Given the description of an element on the screen output the (x, y) to click on. 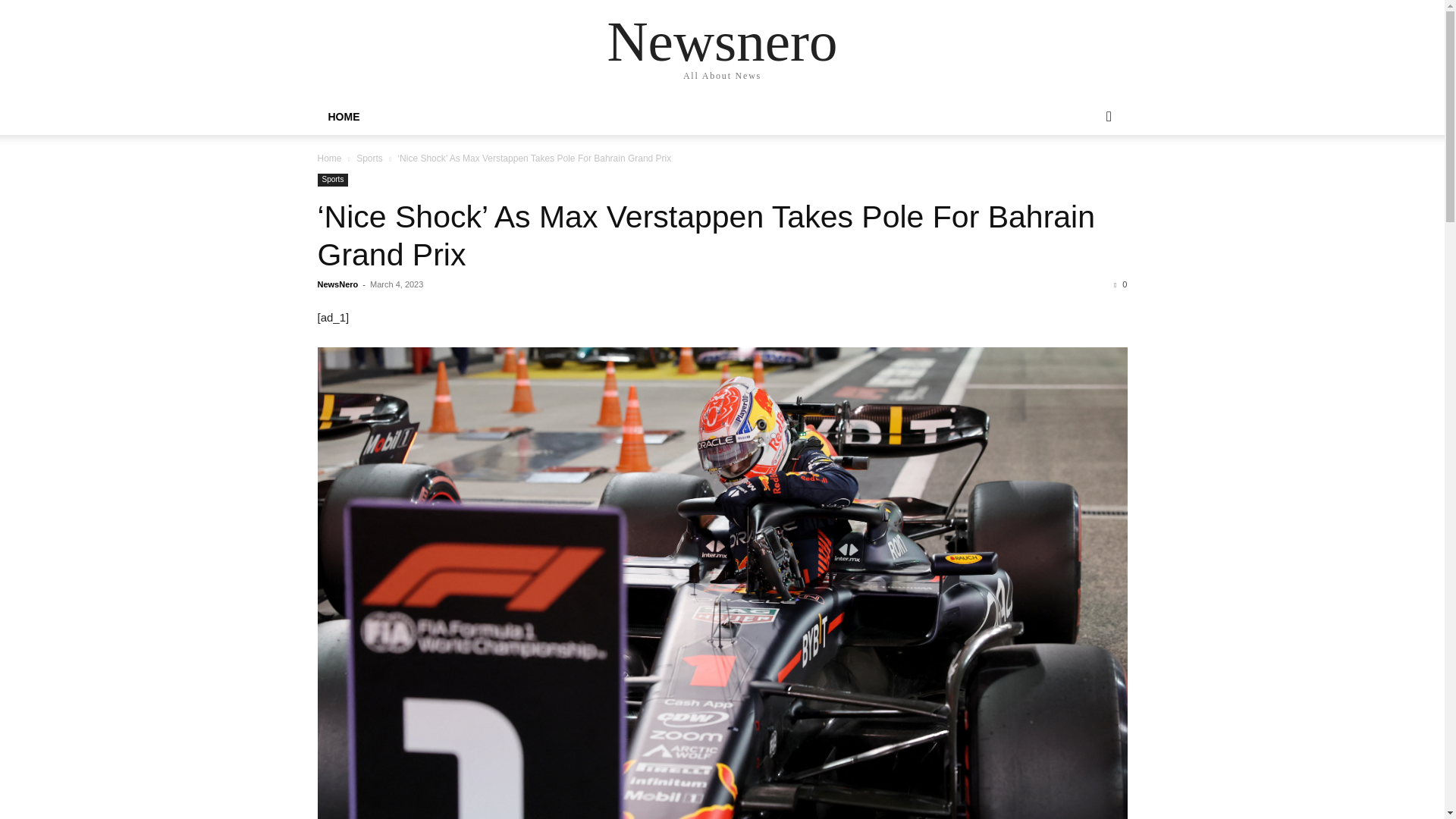
HOME (343, 116)
Sports (369, 158)
NewsNero (337, 284)
Home (328, 158)
Newsnero (722, 41)
0 (1119, 284)
Search (1085, 177)
View all posts in Sports (369, 158)
Sports (332, 179)
